Given the description of an element on the screen output the (x, y) to click on. 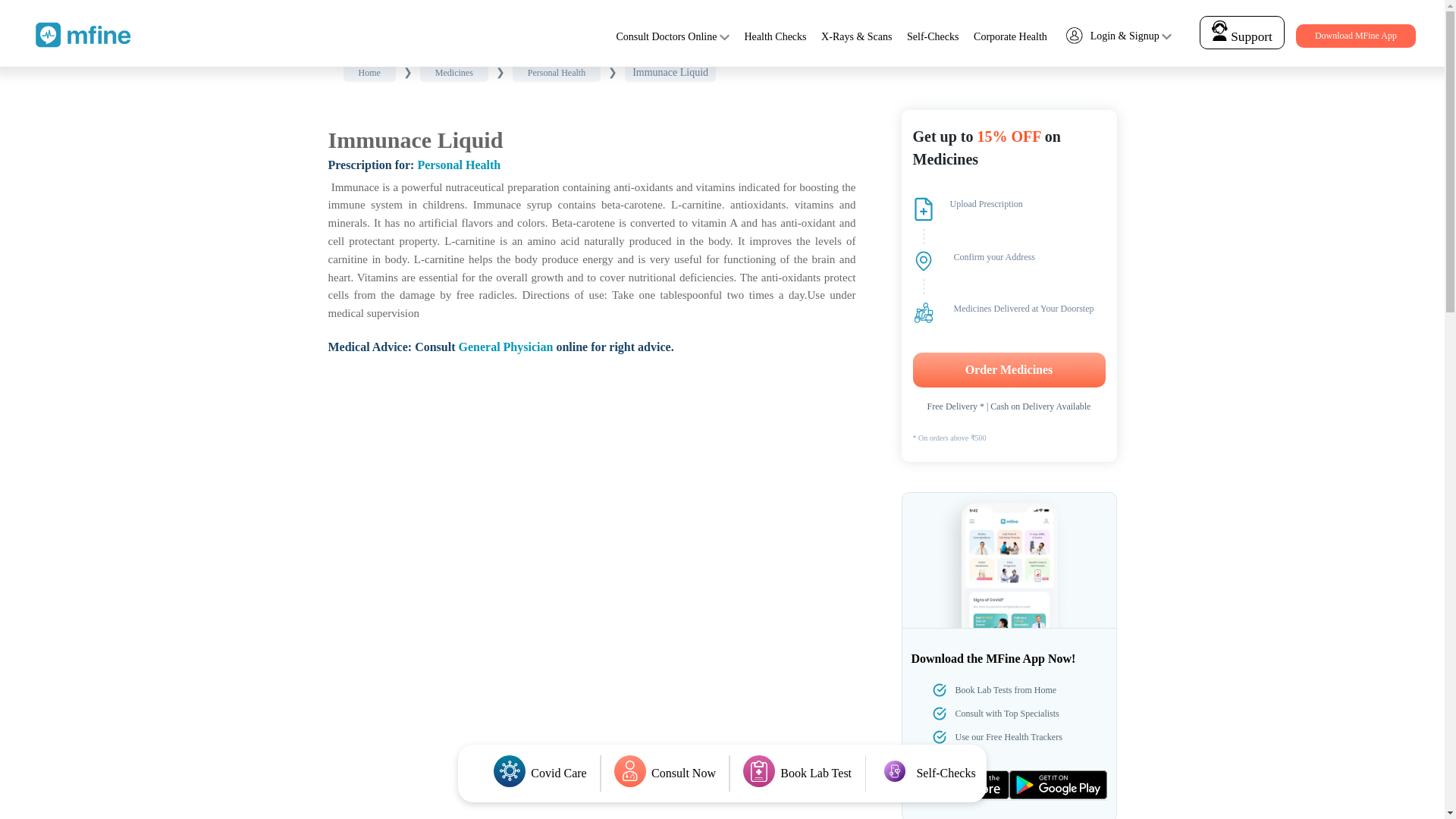
Download MFine App (1355, 35)
Consult Doctors Online (665, 36)
Self-Checks (932, 36)
Health Checks (775, 36)
Corporate Health (1010, 36)
Support (1241, 32)
Support (1241, 36)
